Given the description of an element on the screen output the (x, y) to click on. 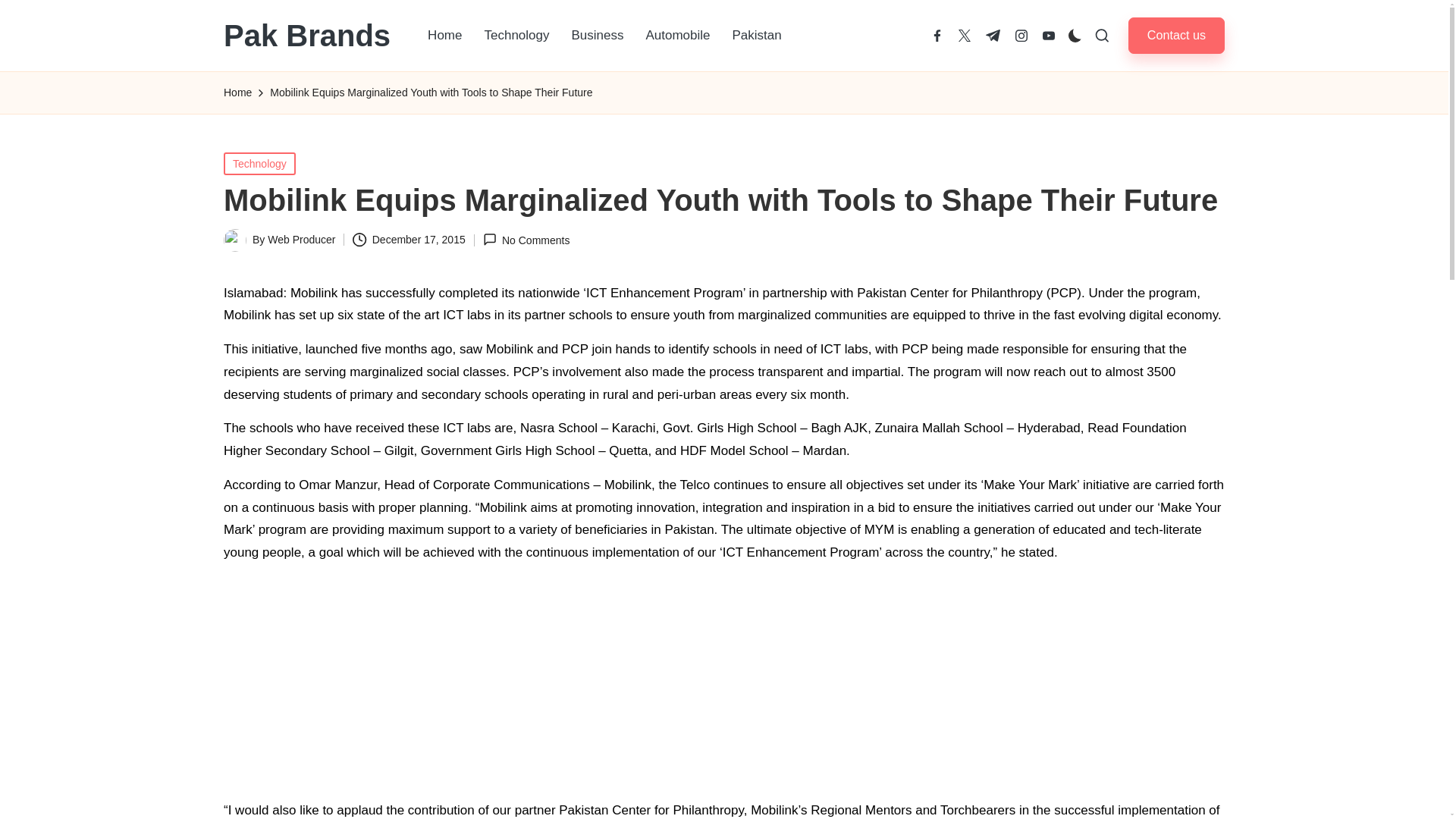
Pakistan (757, 35)
Technology (259, 162)
youtube.com (1049, 35)
Home (237, 92)
Business (596, 35)
Technology (516, 35)
instagram.com (1021, 35)
Web Producer (300, 239)
Automobile (677, 35)
View all posts by Web Producer (300, 239)
No Comments (526, 239)
twitter.com (964, 35)
Pak Brands (307, 35)
Home (443, 35)
